Given the description of an element on the screen output the (x, y) to click on. 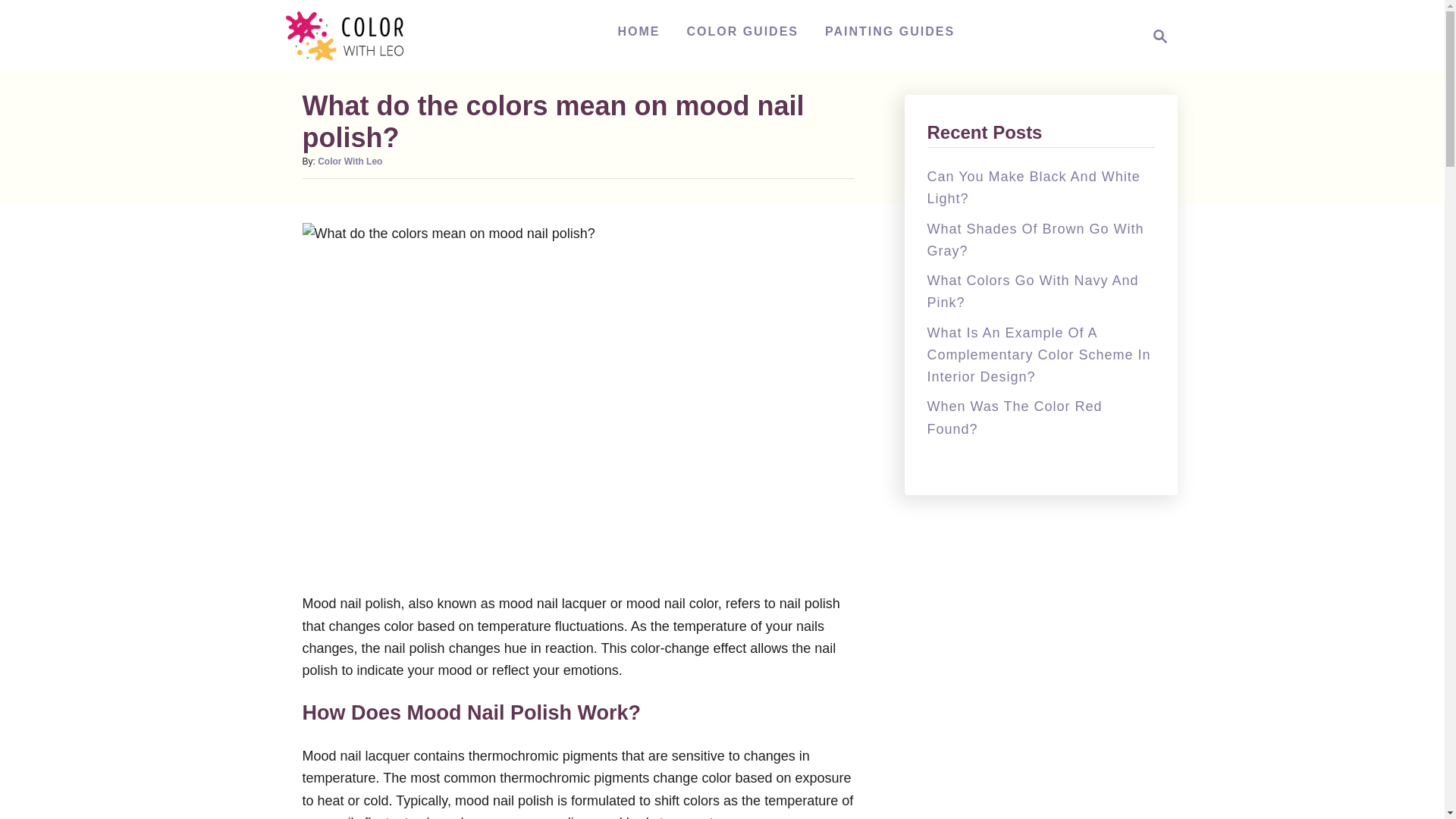
PAINTING GUIDES (889, 31)
When Was The Color Red Found? (1014, 416)
What Shades Of Brown Go With Gray? (1034, 239)
Color With Leo (353, 35)
COLOR GUIDES (742, 31)
HOME (638, 31)
Magnifying Glass (1160, 36)
What Colors Go With Navy And Pink? (1032, 291)
Color With Leo (349, 161)
Can You Make Black And White Light? (1155, 36)
